Given the description of an element on the screen output the (x, y) to click on. 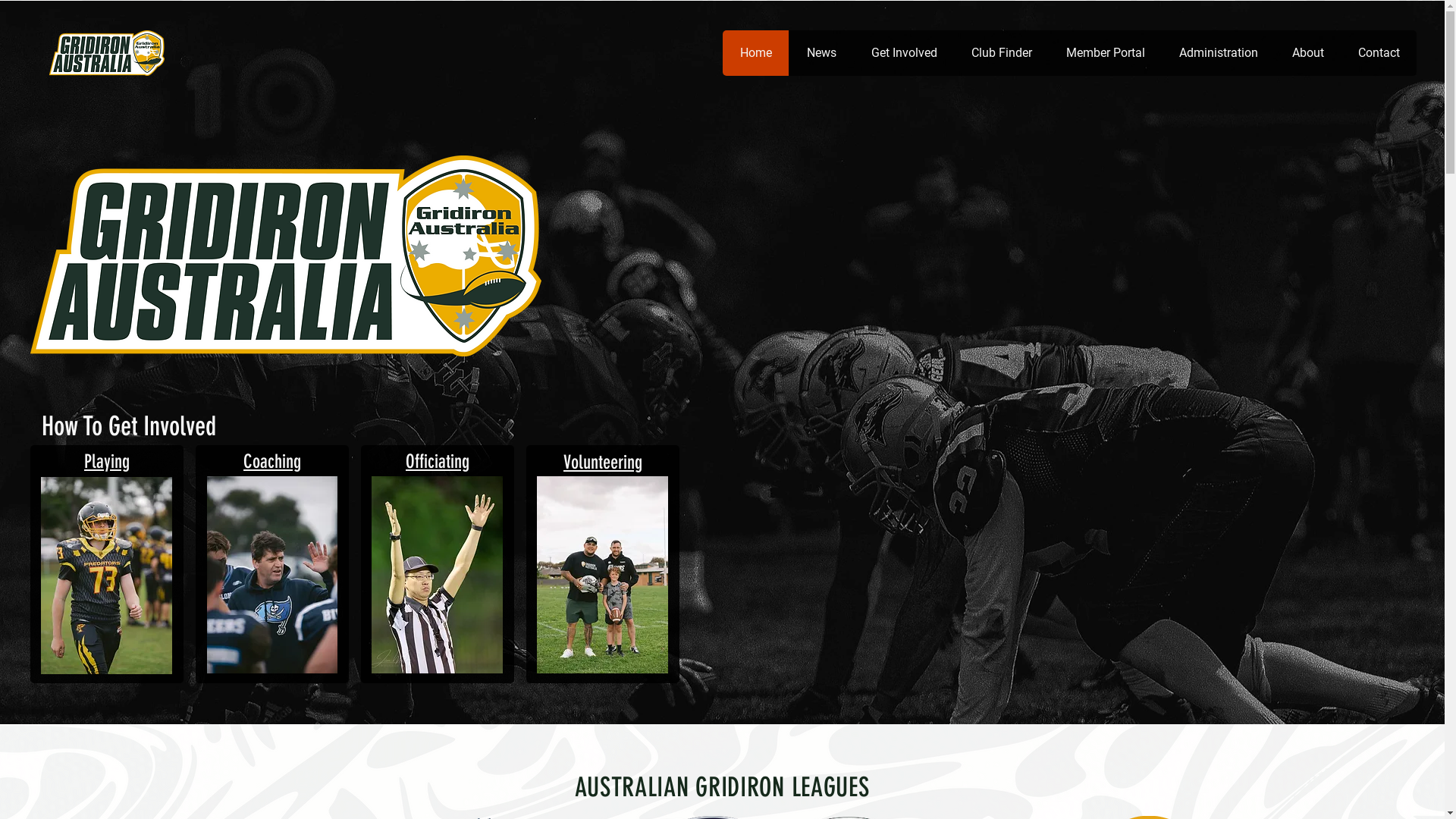
Home Element type: text (755, 52)
Member Portal Element type: text (1104, 52)
News Element type: text (820, 52)
Get Involved Element type: text (903, 52)
Contact Element type: text (1378, 52)
11672124-large-2.jpg Element type: hover (436, 574)
Administration Element type: text (1217, 52)
Officiating Element type: text (437, 461)
Club Finder Element type: text (1000, 52)
Coaching Element type: text (272, 461)
Volunteering Element type: text (602, 462)
About Element type: text (1307, 52)
Playing Element type: text (106, 461)
